Given the description of an element on the screen output the (x, y) to click on. 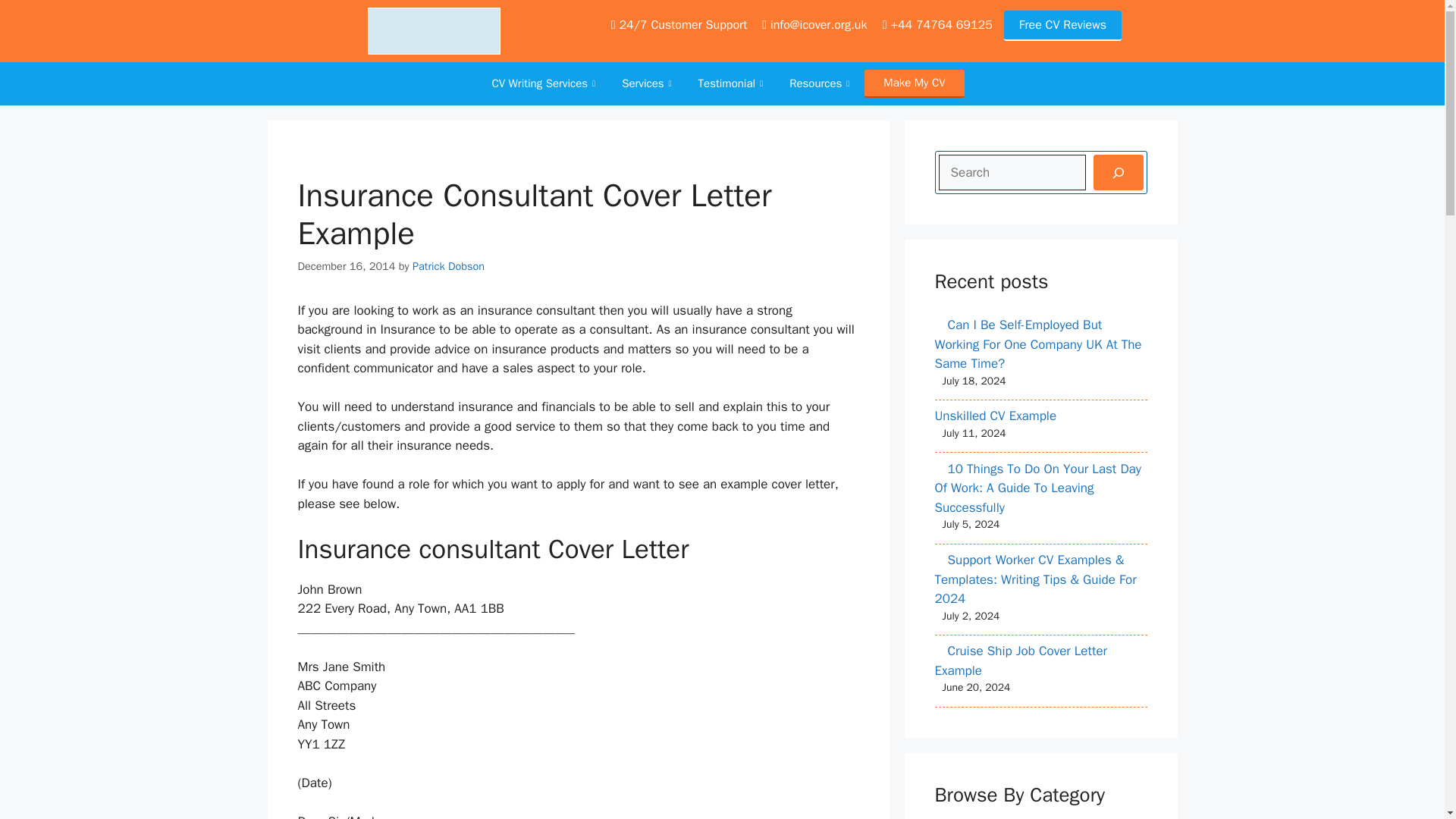
CV Writing Services (545, 83)
Free CV Reviews (1062, 25)
View all posts by Patrick Dobson (448, 265)
